Given the description of an element on the screen output the (x, y) to click on. 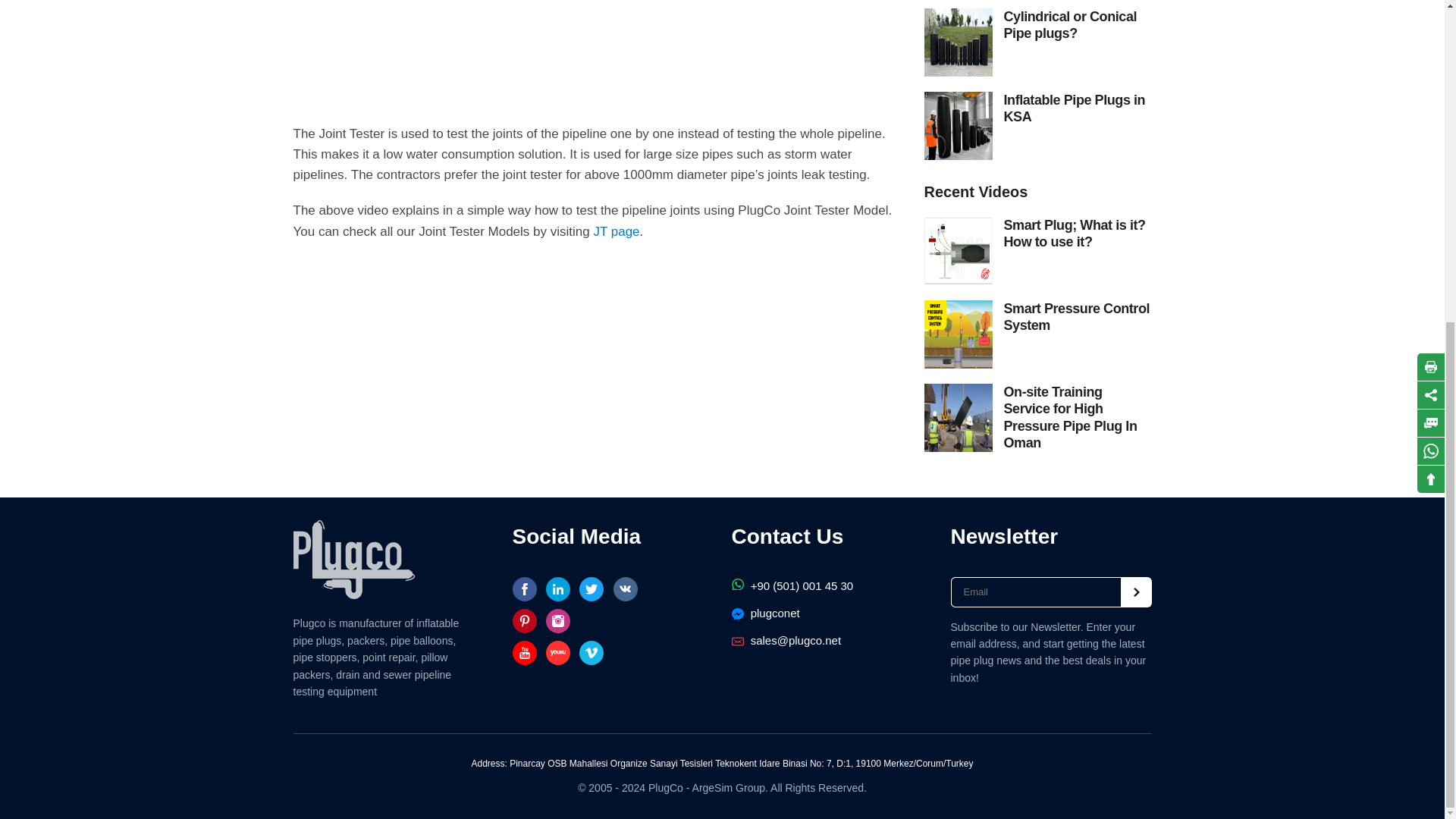
Smart Pressure Control System (1077, 317)
On-site Training Service for High Pressure Pipe Plug In Oman (1077, 418)
Inflatable Pipe Plugs in KSA (1077, 108)
JT page (615, 231)
Cylindrical or Conical Pipe plugs? (1077, 25)
Smart Plug; What is it? How to use it? (1077, 233)
